Given the description of an element on the screen output the (x, y) to click on. 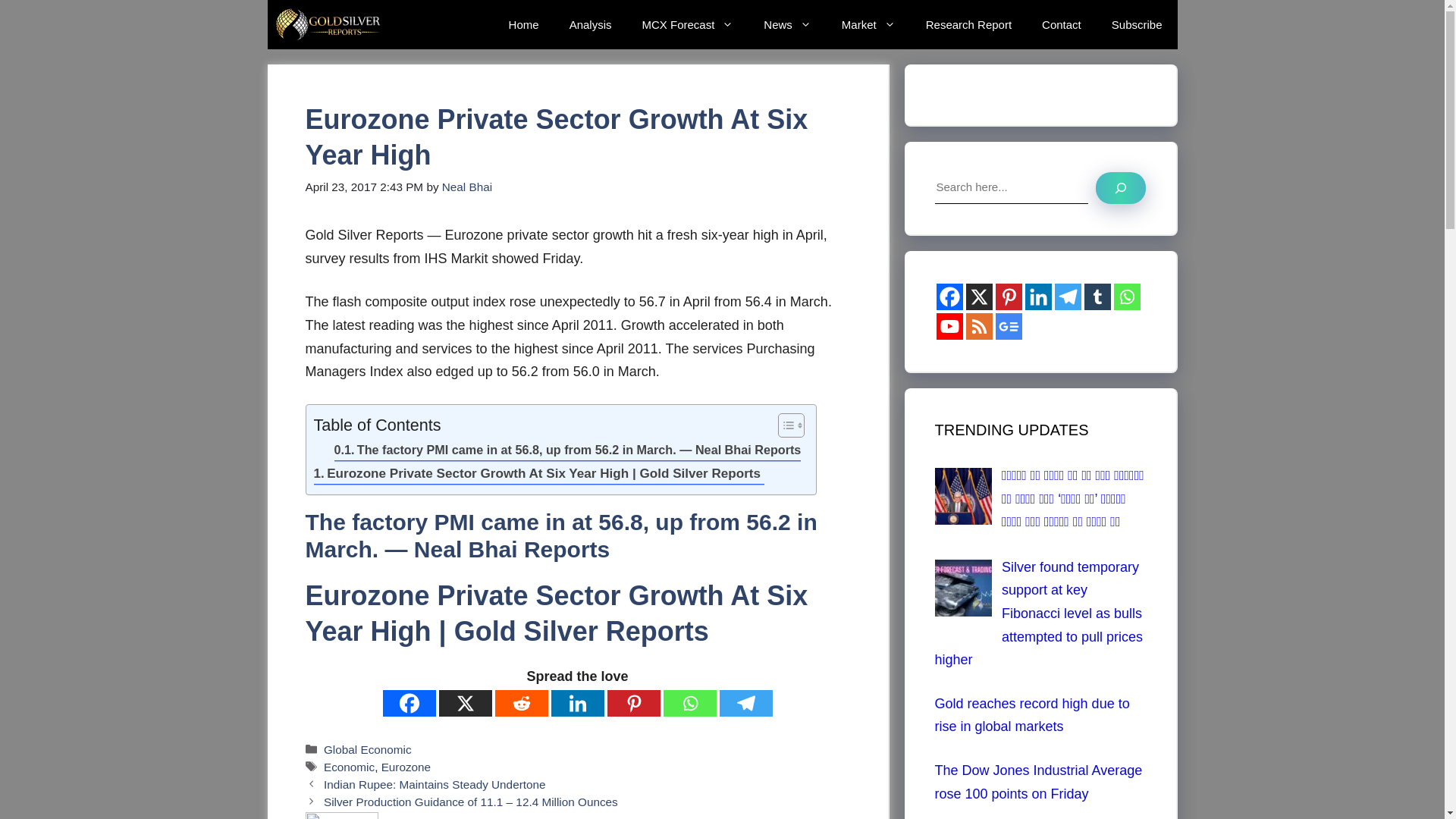
Subscribe (1136, 24)
Home (523, 24)
Home (523, 24)
Analysis (590, 24)
MCX Forecast (687, 24)
Contact (1061, 24)
Analysis (590, 24)
MCX Forecast (687, 24)
News (787, 24)
News (787, 24)
